Given the description of an element on the screen output the (x, y) to click on. 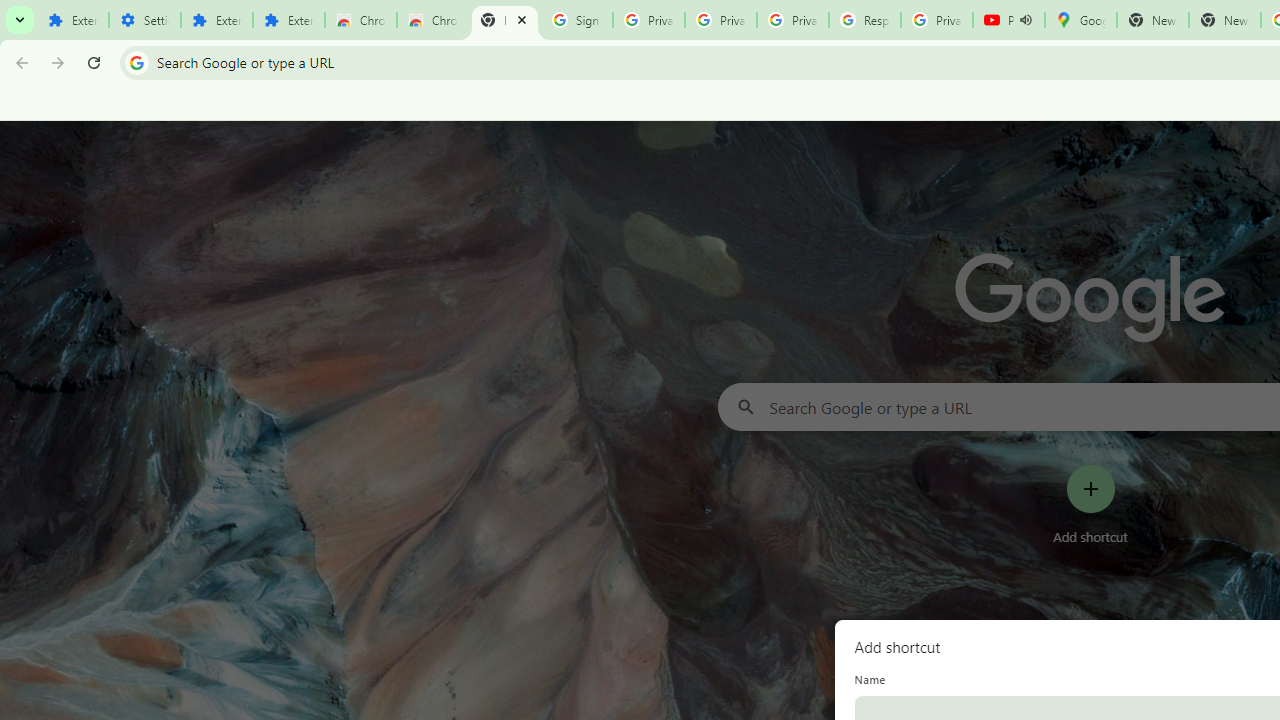
New Tab (504, 20)
Google Maps (1080, 20)
Search icon (136, 62)
New Tab (1224, 20)
